Given the description of an element on the screen output the (x, y) to click on. 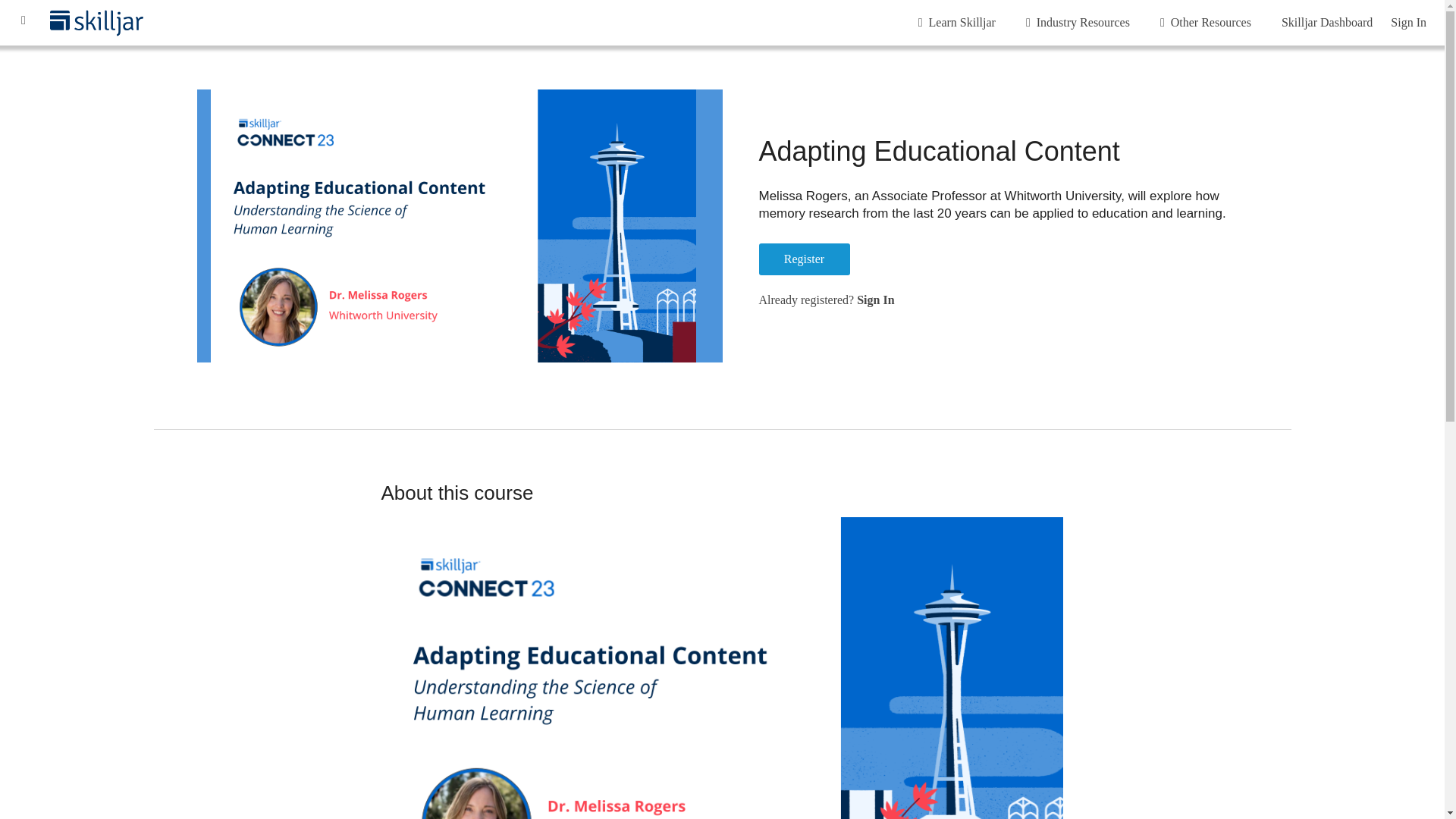
Skilljar Dashboard (1326, 22)
Skilljar Connect (22, 22)
